Given the description of an element on the screen output the (x, y) to click on. 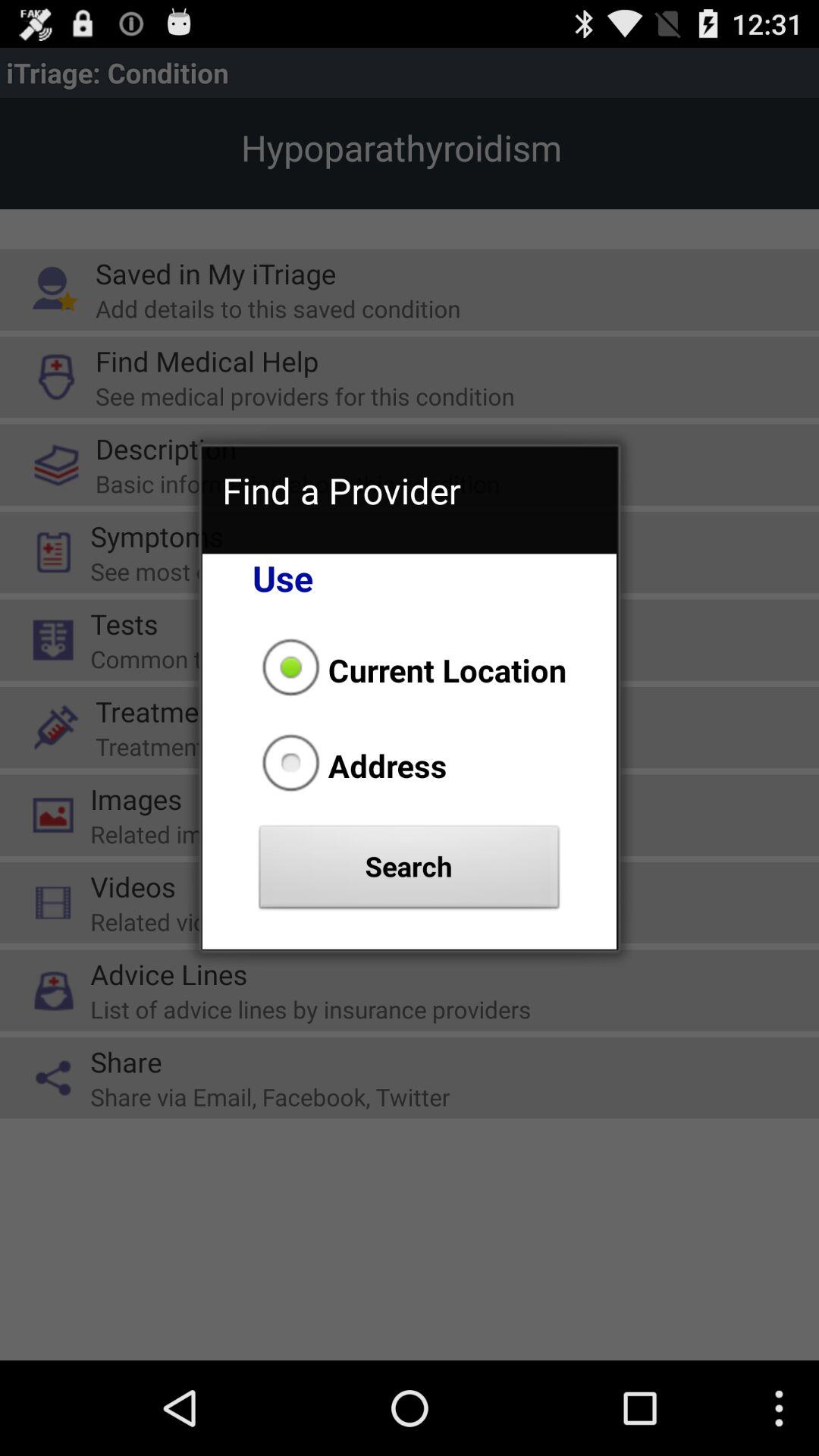
jump until the current location radio button (409, 669)
